Given the description of an element on the screen output the (x, y) to click on. 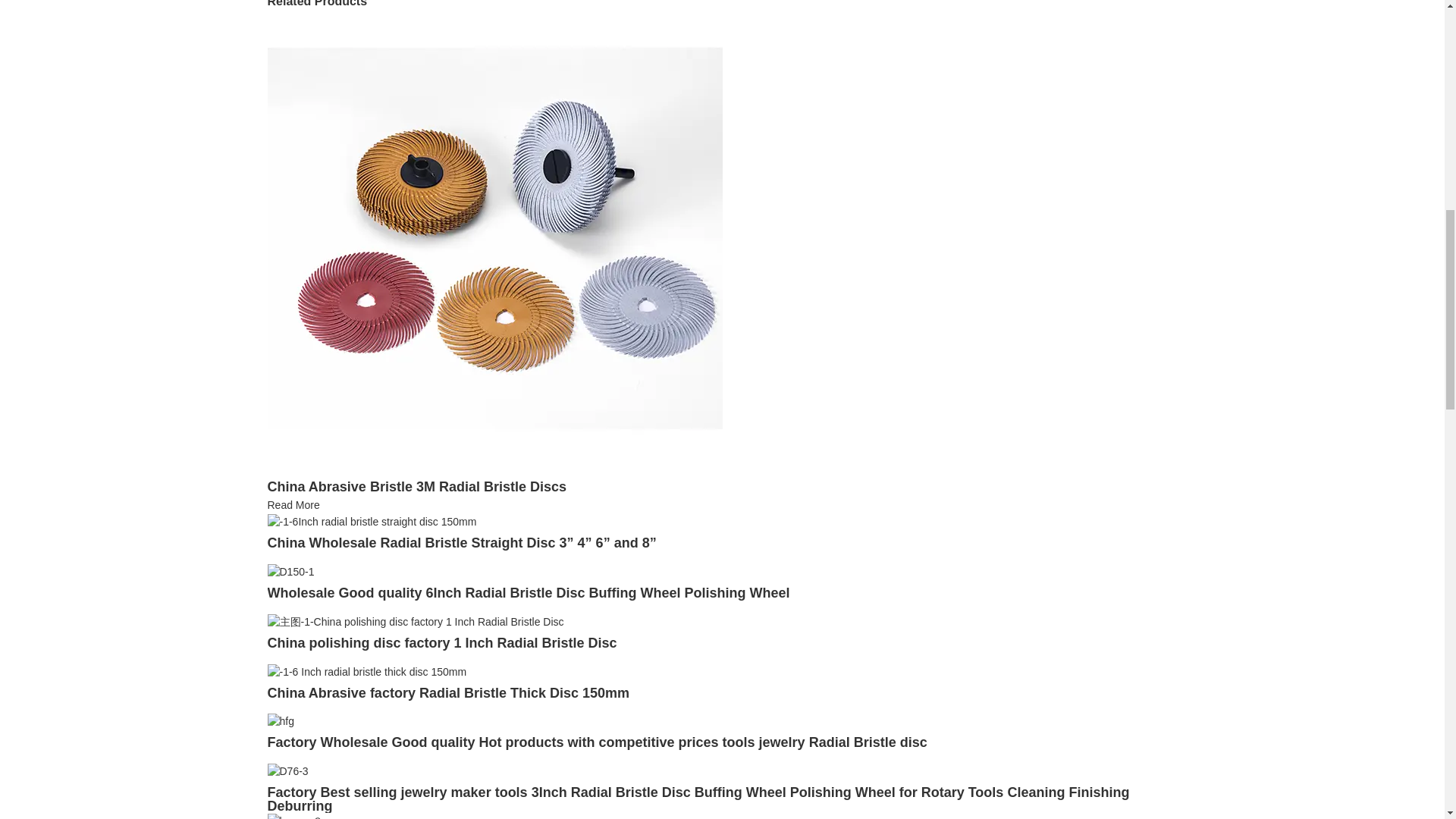
China polishing disc factory 1 Inch Radial Bristle Disc  (440, 642)
China Abrasive Bristle 3M Radial Bristle Discs (292, 504)
China Abrasive Bristle 3M Radial Bristle Discs (494, 236)
China polishing disc factory 1 Inch Radial Bristle Disc  (414, 621)
China Abrasive factory Radial Bristle Thick Disc 150mm (365, 671)
China Abrasive Bristle 3M Radial Bristle Discs (416, 486)
